Given the description of an element on the screen output the (x, y) to click on. 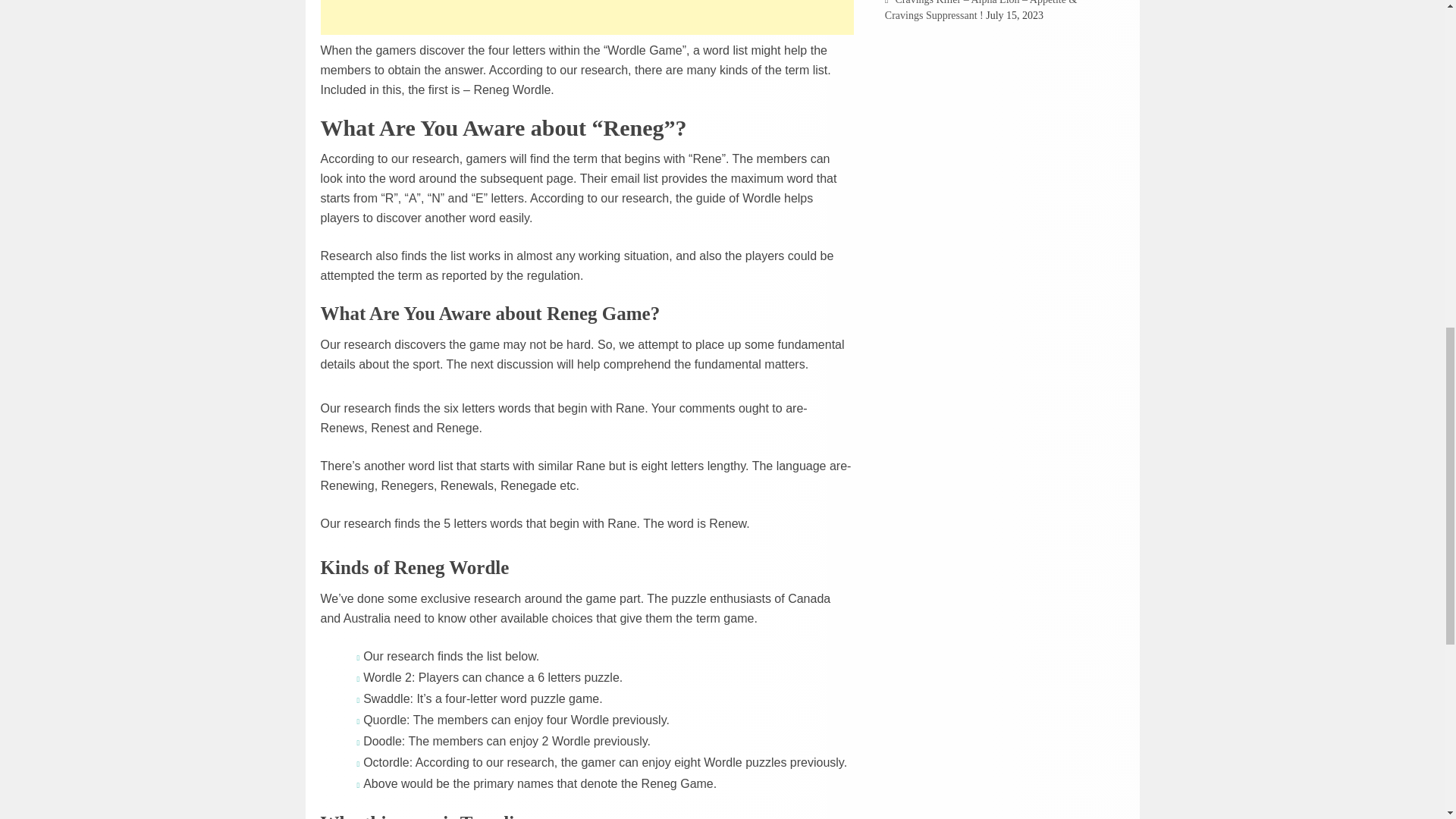
Advertisement (586, 17)
